Given the description of an element on the screen output the (x, y) to click on. 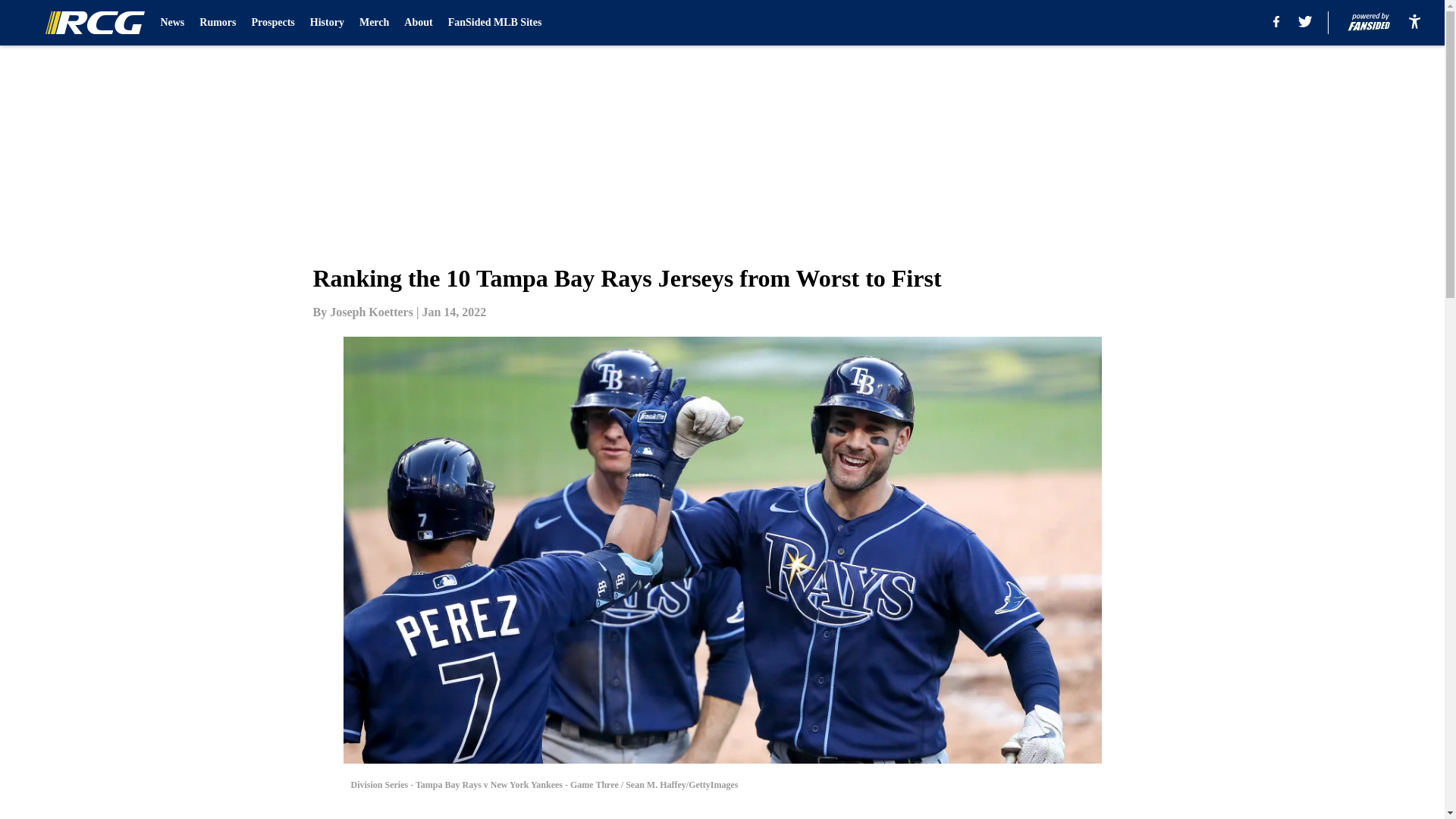
Prospects (273, 22)
Merch (373, 22)
Rumors (217, 22)
FanSided MLB Sites (494, 22)
News (172, 22)
History (326, 22)
About (418, 22)
